Given the description of an element on the screen output the (x, y) to click on. 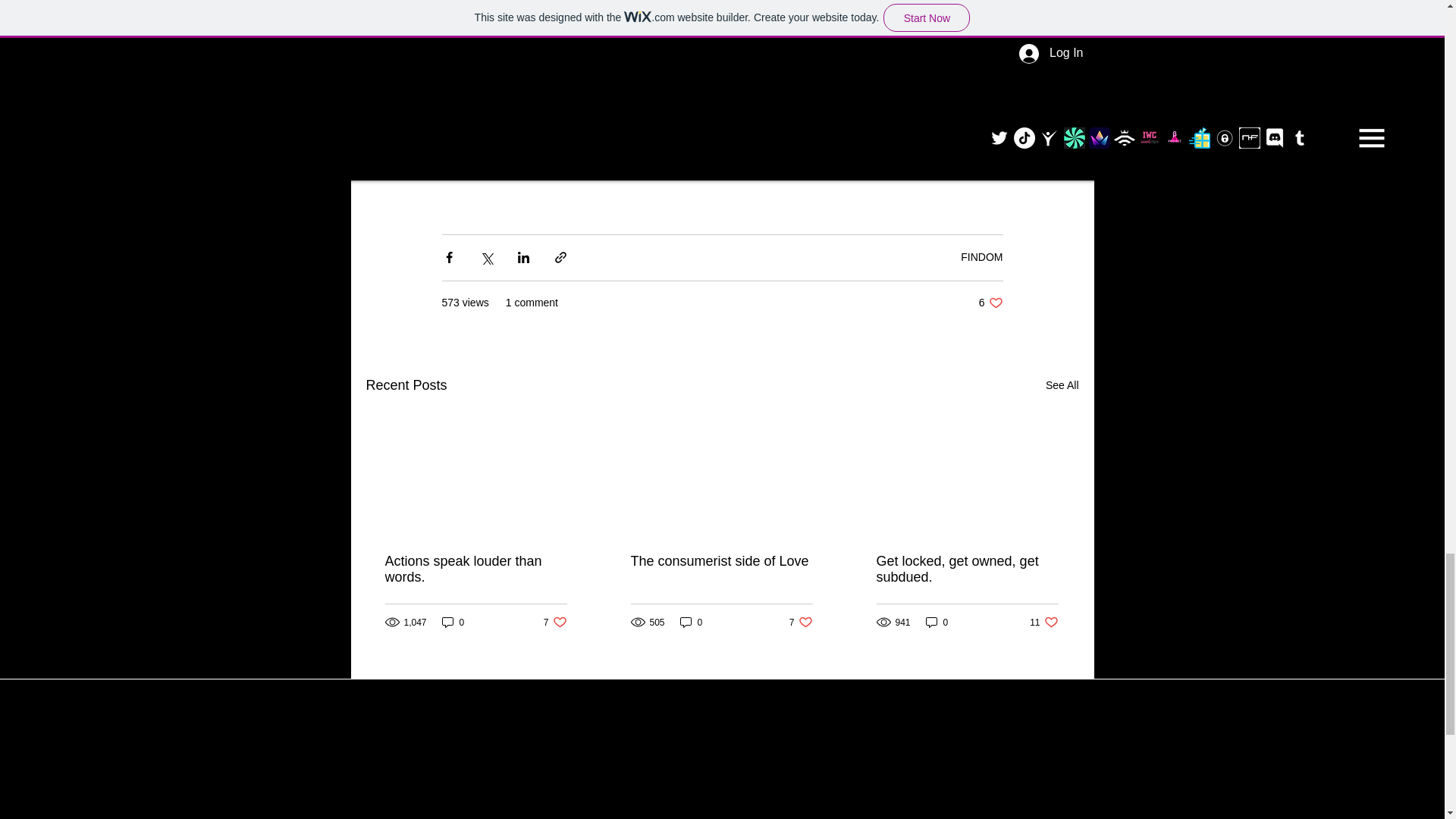
financial domination (636, 103)
finsub (504, 103)
miss demonia (886, 103)
sissy (610, 124)
domme (549, 103)
gooning (567, 124)
findom (461, 103)
findomme (730, 103)
missdemonia (800, 103)
money mistress (708, 113)
